Given the description of an element on the screen output the (x, y) to click on. 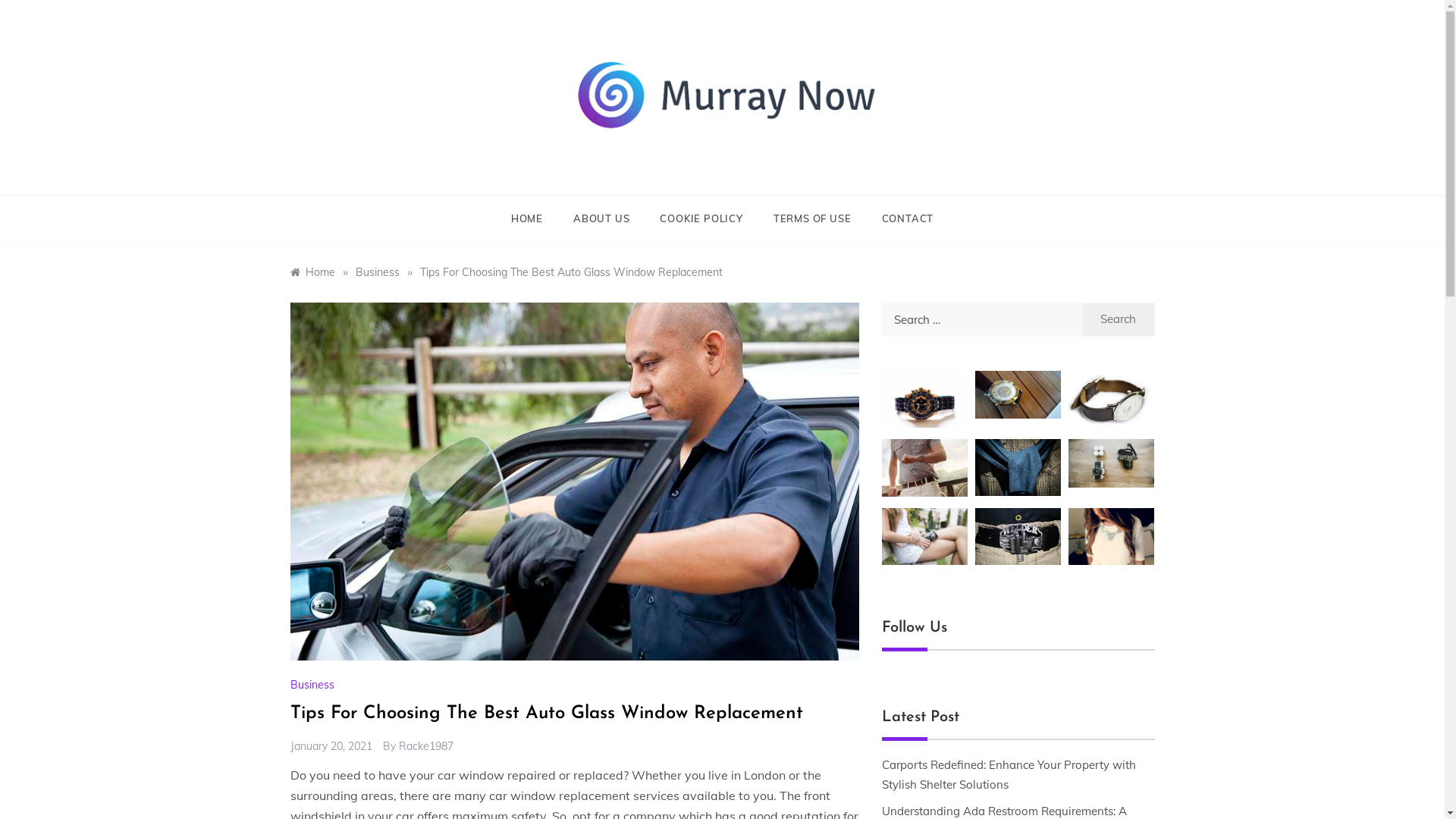
Business Element type: text (313, 684)
TERMS OF USE Element type: text (812, 218)
COOKIE POLICY Element type: text (700, 218)
Racke1987 Element type: text (425, 746)
Tips For Choosing The Best Auto Glass Window Replacement Element type: text (571, 272)
January 20, 2021 Element type: text (330, 746)
Murray Now Element type: text (662, 180)
ABOUT US Element type: text (601, 218)
HOME Element type: text (534, 218)
Home Element type: text (311, 272)
CONTACT Element type: text (899, 218)
Search Element type: text (1118, 319)
Business Element type: text (376, 272)
